Given the description of an element on the screen output the (x, y) to click on. 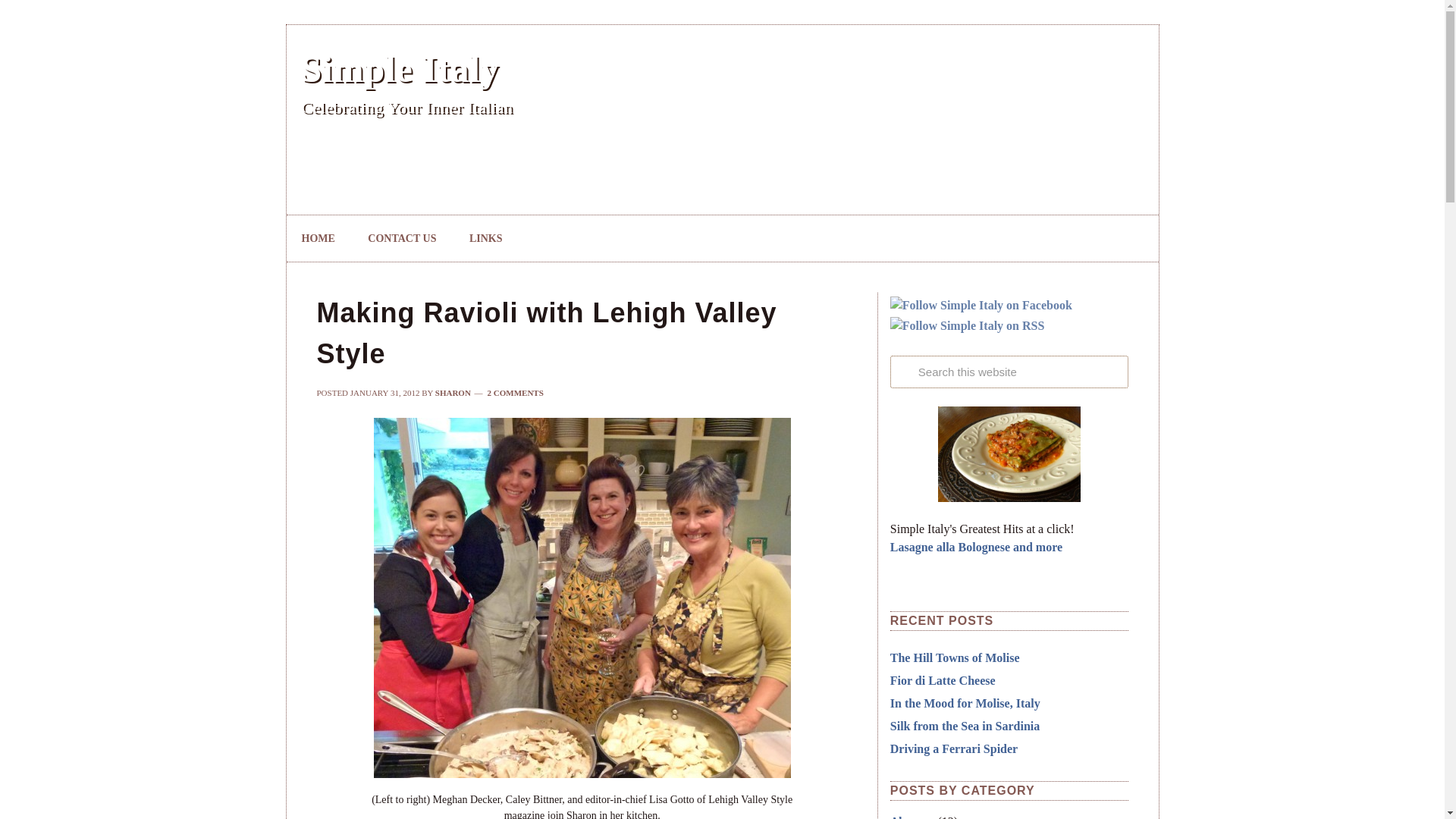
Driving a Ferrari Spider (953, 748)
2 COMMENTS (515, 392)
Lasagne alla Bolognese and more (1008, 547)
RECENT POSTS (1008, 620)
Follow Simple Italy on Facebook (980, 305)
In the Mood for Molise, Italy (965, 703)
Simple Italy (400, 69)
Abruzzo (911, 816)
Follow Simple Italy on RSS (967, 325)
The Hill Towns of Molise (954, 657)
Silk from the Sea in Sardinia (965, 725)
LINKS (486, 238)
